Given the description of an element on the screen output the (x, y) to click on. 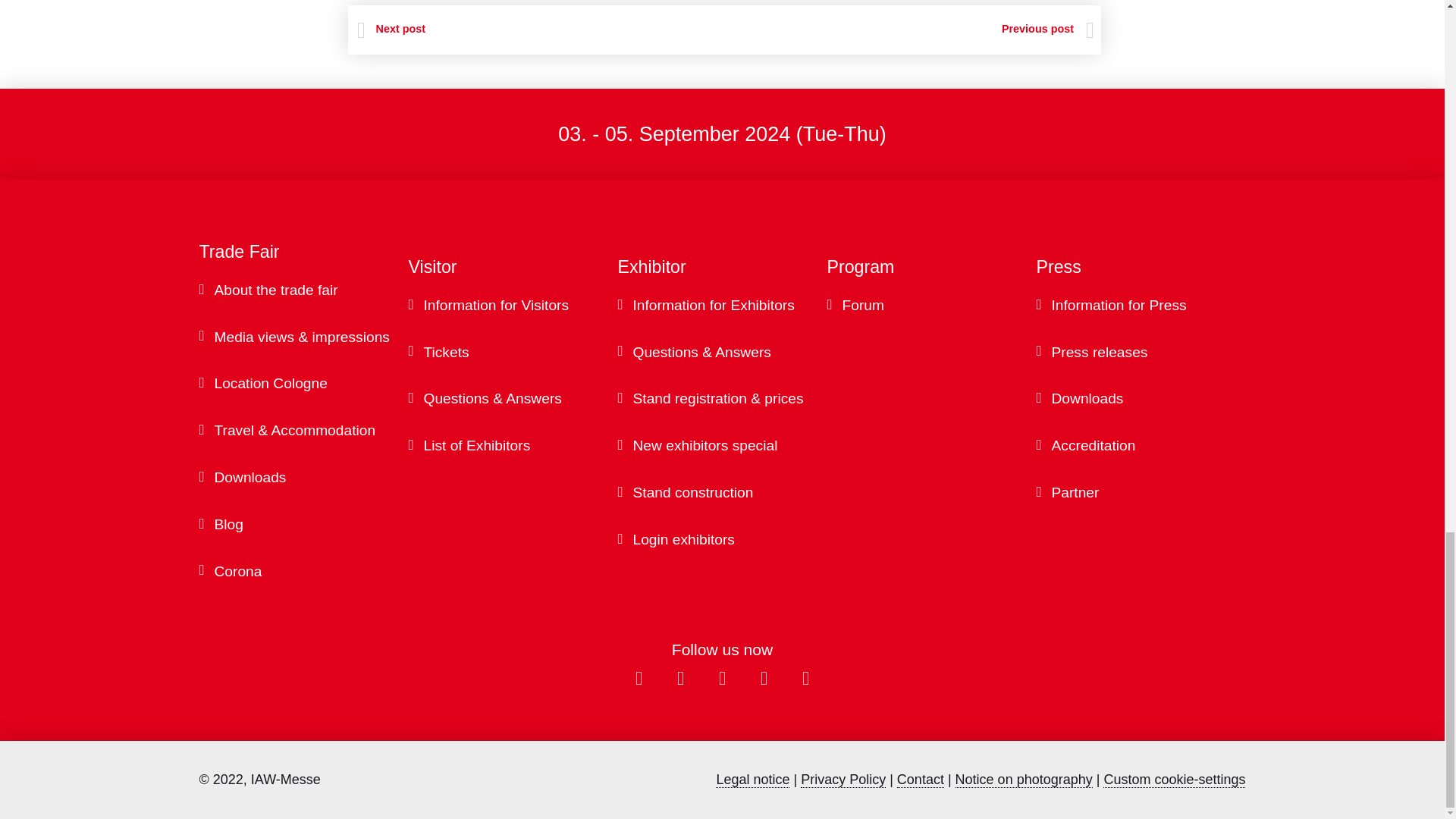
Next post (391, 28)
About the trade fair (310, 291)
Location Cologne (310, 383)
Previous post (909, 28)
Trade Fair (302, 252)
